Given the description of an element on the screen output the (x, y) to click on. 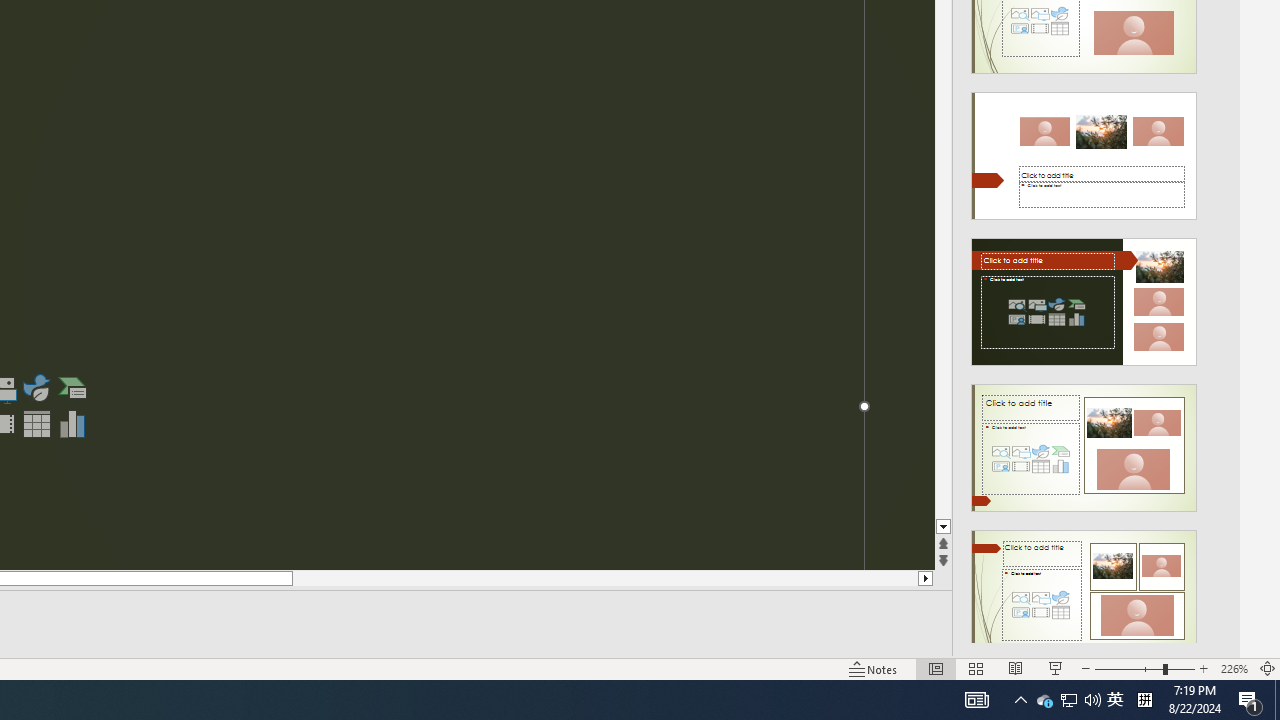
Zoom 226% (1234, 668)
